Given the description of an element on the screen output the (x, y) to click on. 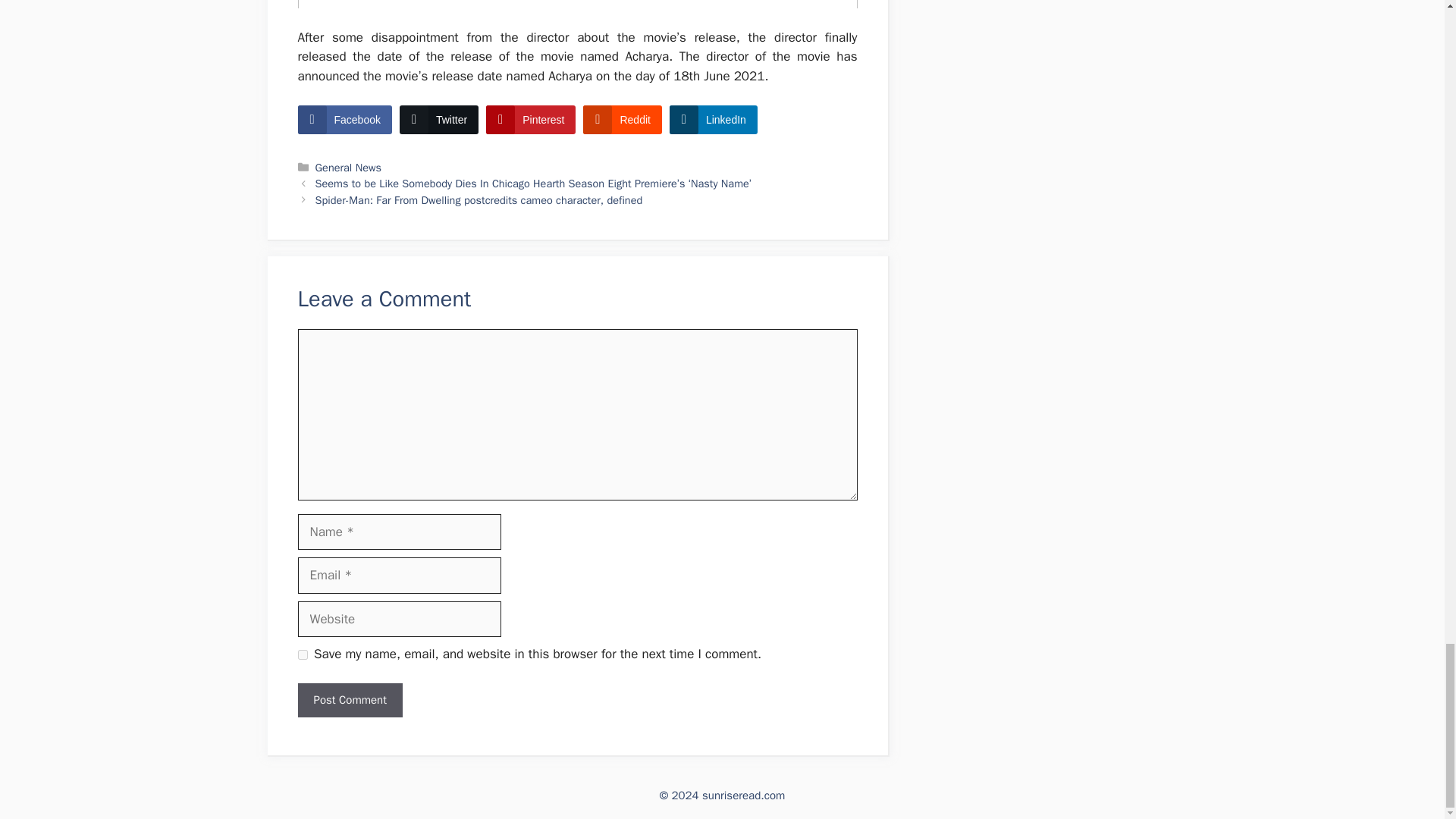
LinkedIn (713, 119)
yes (302, 655)
Facebook (344, 119)
Pinterest (530, 119)
Twitter (438, 119)
Post Comment (349, 700)
General News (348, 167)
Reddit (622, 119)
